Given the description of an element on the screen output the (x, y) to click on. 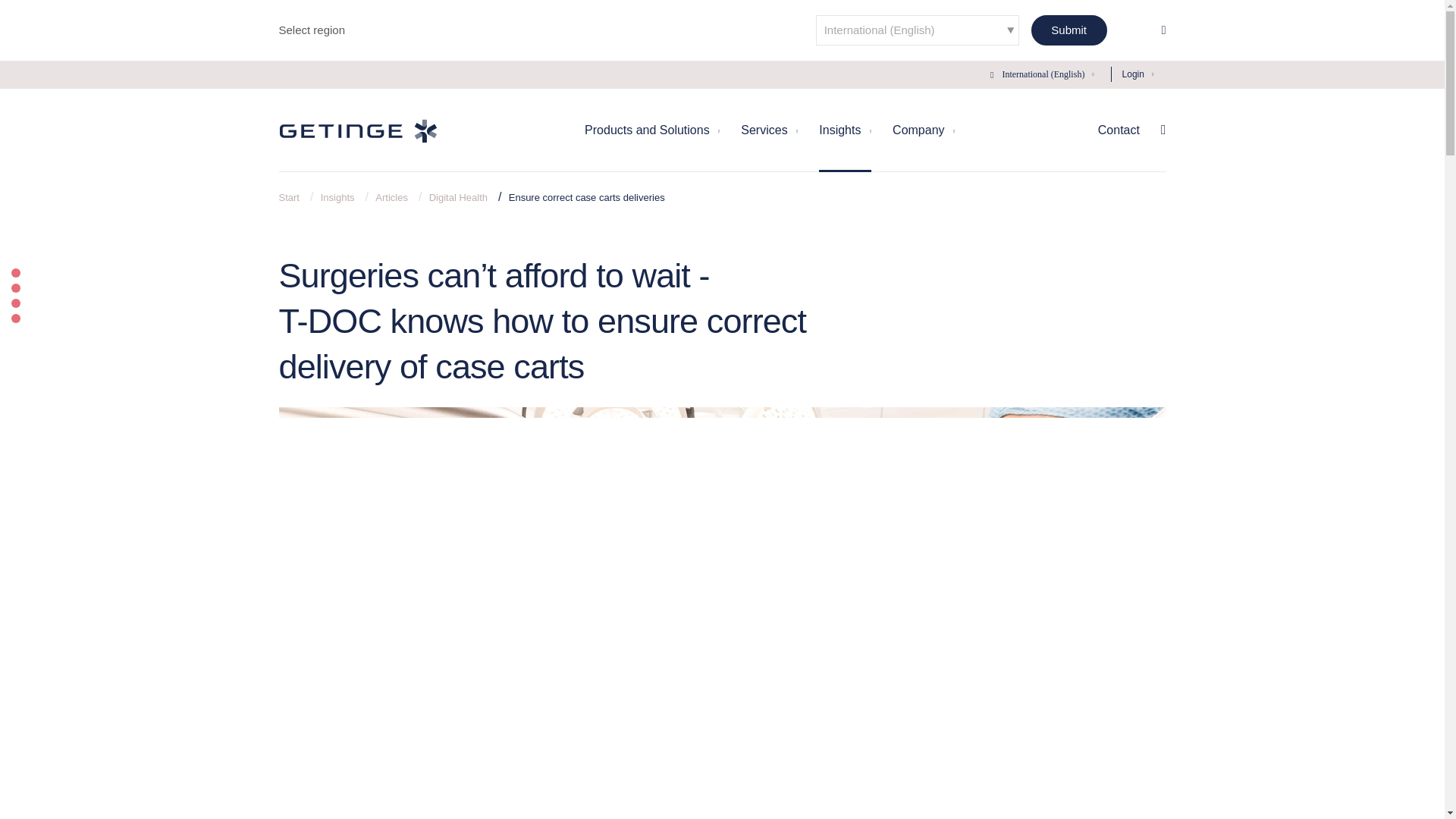
Select language (1039, 73)
Login (1133, 73)
Submit (1068, 30)
Select language (917, 30)
